Given the description of an element on the screen output the (x, y) to click on. 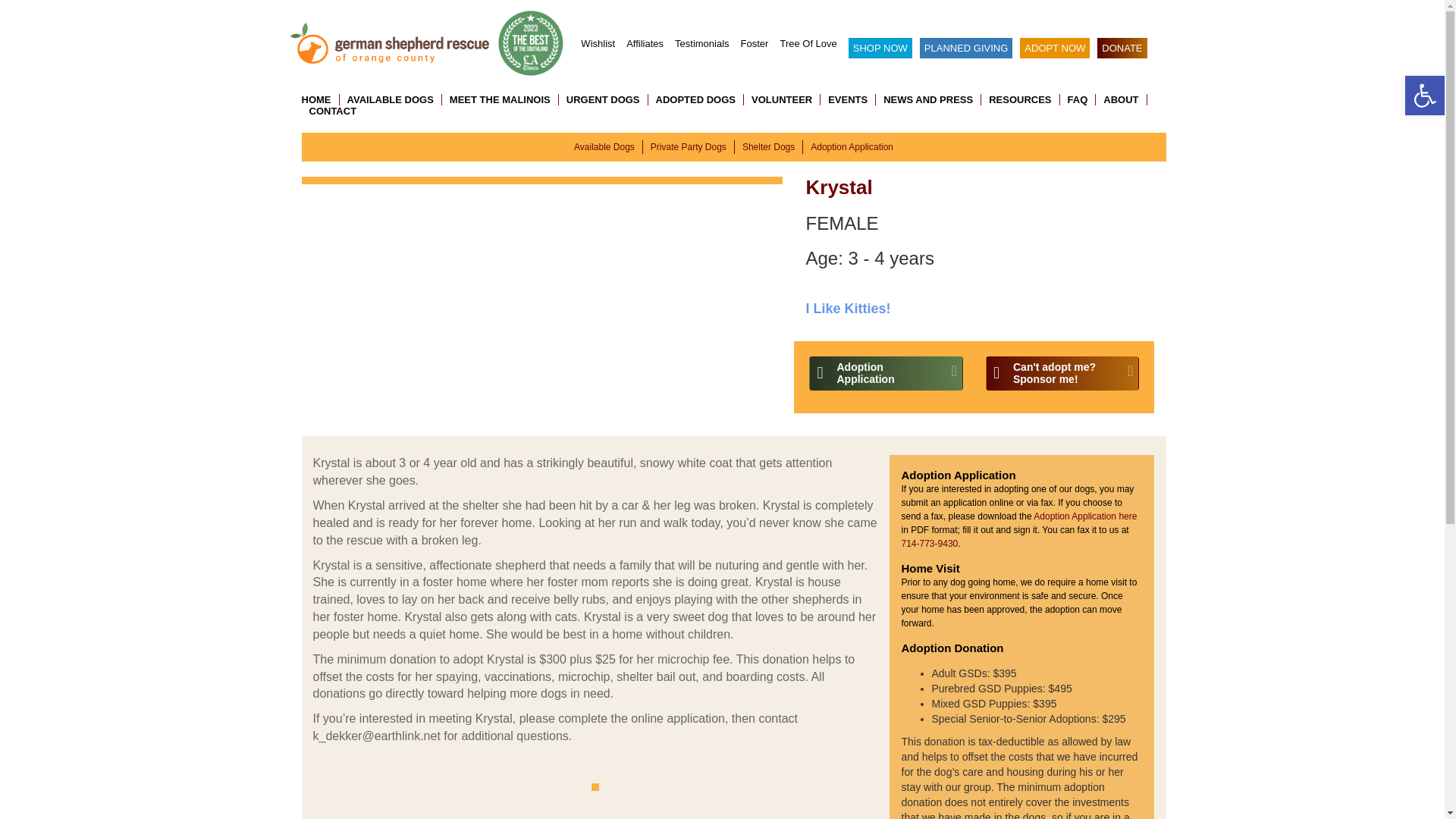
EVENTS (848, 99)
URGENT DOGS (603, 99)
RESOURCES (1020, 99)
MEET THE MALINOIS (500, 99)
Available Dogs (603, 146)
AVAILABLE DOGS (390, 99)
HOME (320, 99)
Accessibility Tools (1424, 95)
PLANNED GIVING (966, 47)
Wishlist (597, 43)
